Given the description of an element on the screen output the (x, y) to click on. 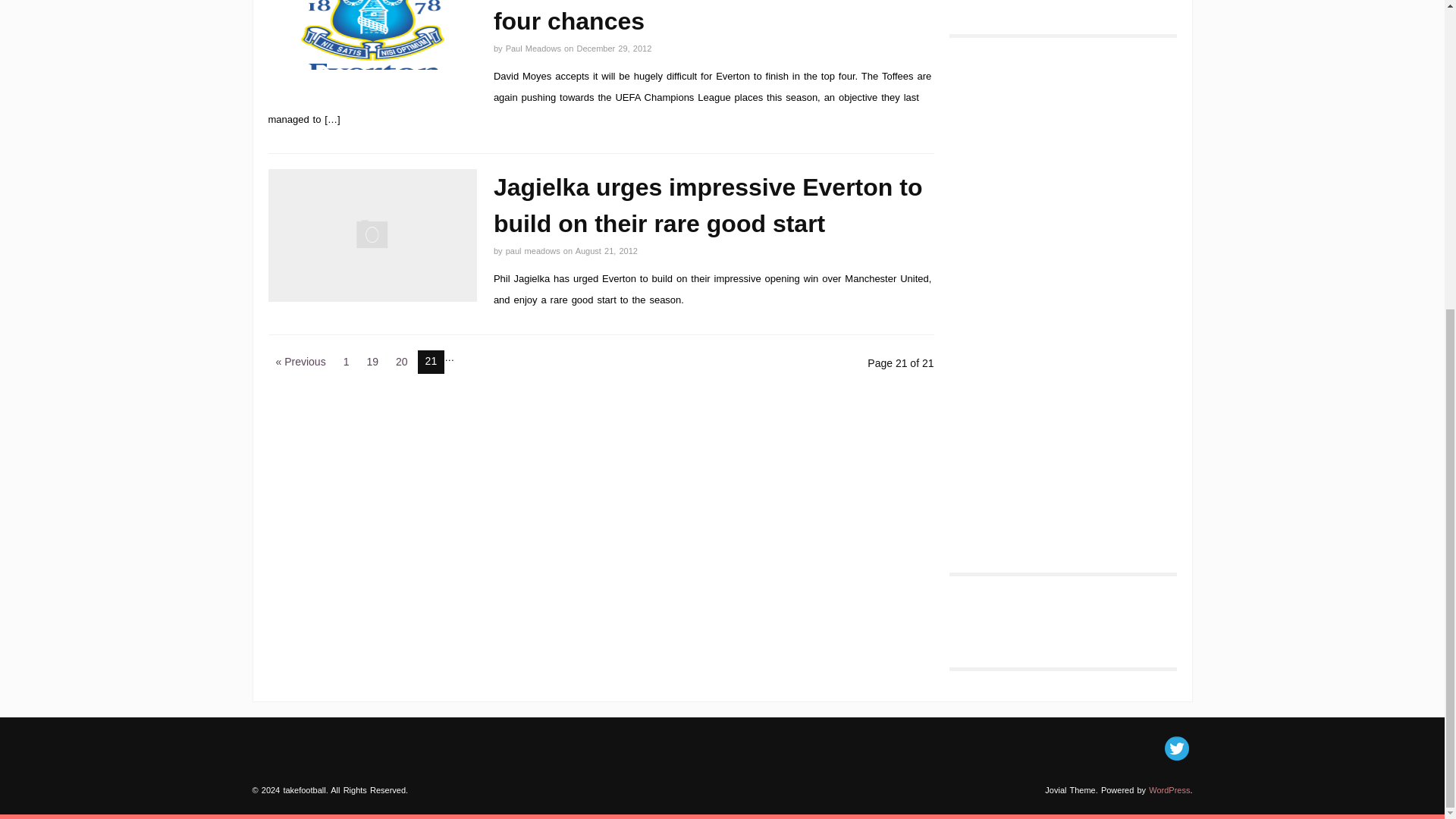
Paul Meadows (534, 48)
1 (346, 362)
paul meadows (534, 250)
19 (371, 362)
WordPress (1168, 789)
20 (401, 362)
